Given the description of an element on the screen output the (x, y) to click on. 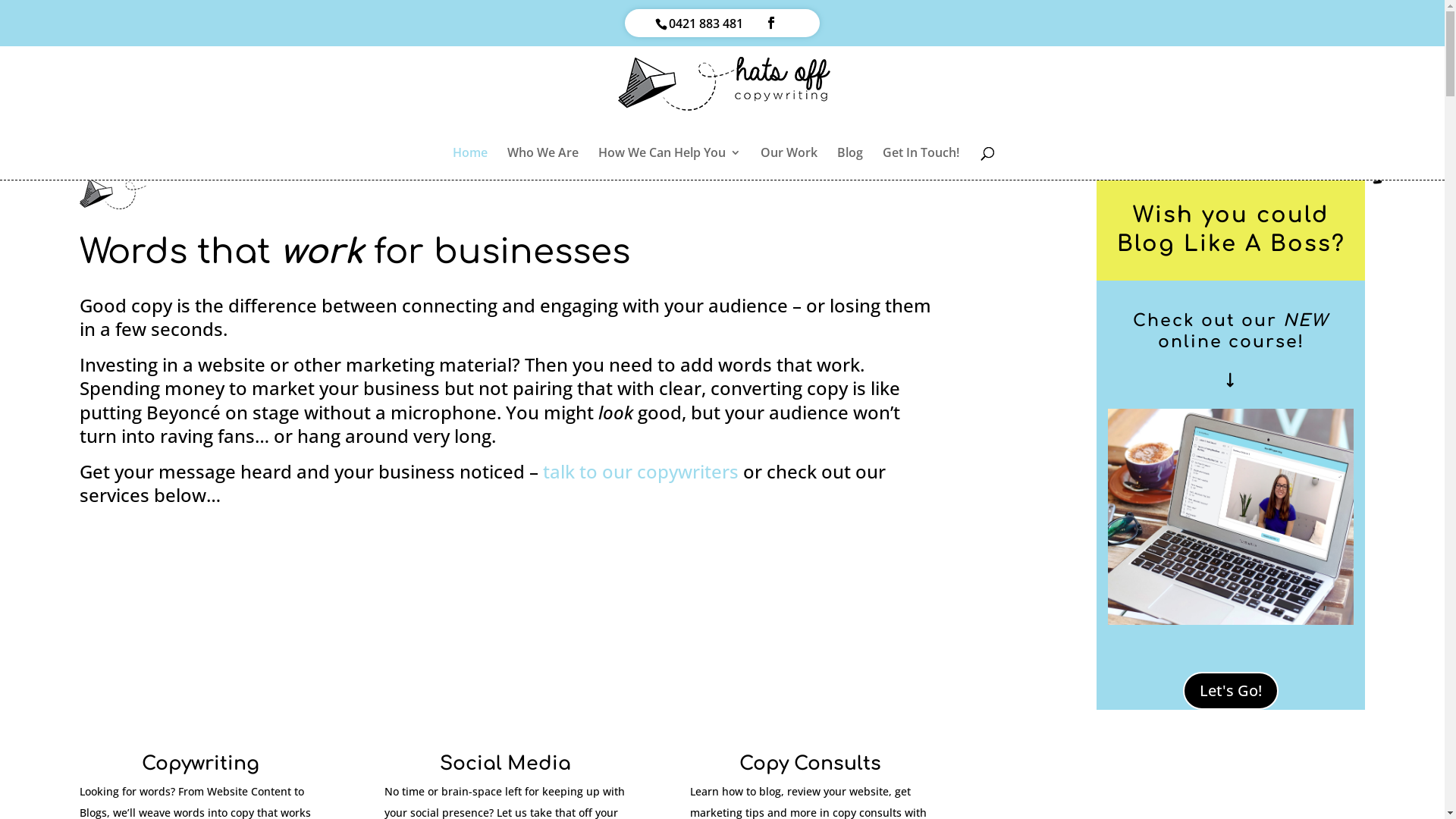
Copywriting Element type: text (200, 763)
Our Work Element type: text (787, 163)
Who We Are Element type: text (541, 163)
talk to our copywriters Element type: text (640, 470)
Blog Element type: text (849, 163)
Home Element type: text (468, 163)
Let's Go! Element type: text (1230, 690)
Get In Touch! Element type: text (920, 163)
0421 883 481 Element type: text (705, 23)
Copy Consults Element type: text (810, 763)
How We Can Help You Element type: text (668, 163)
Social Media Element type: text (505, 763)
